Given the description of an element on the screen output the (x, y) to click on. 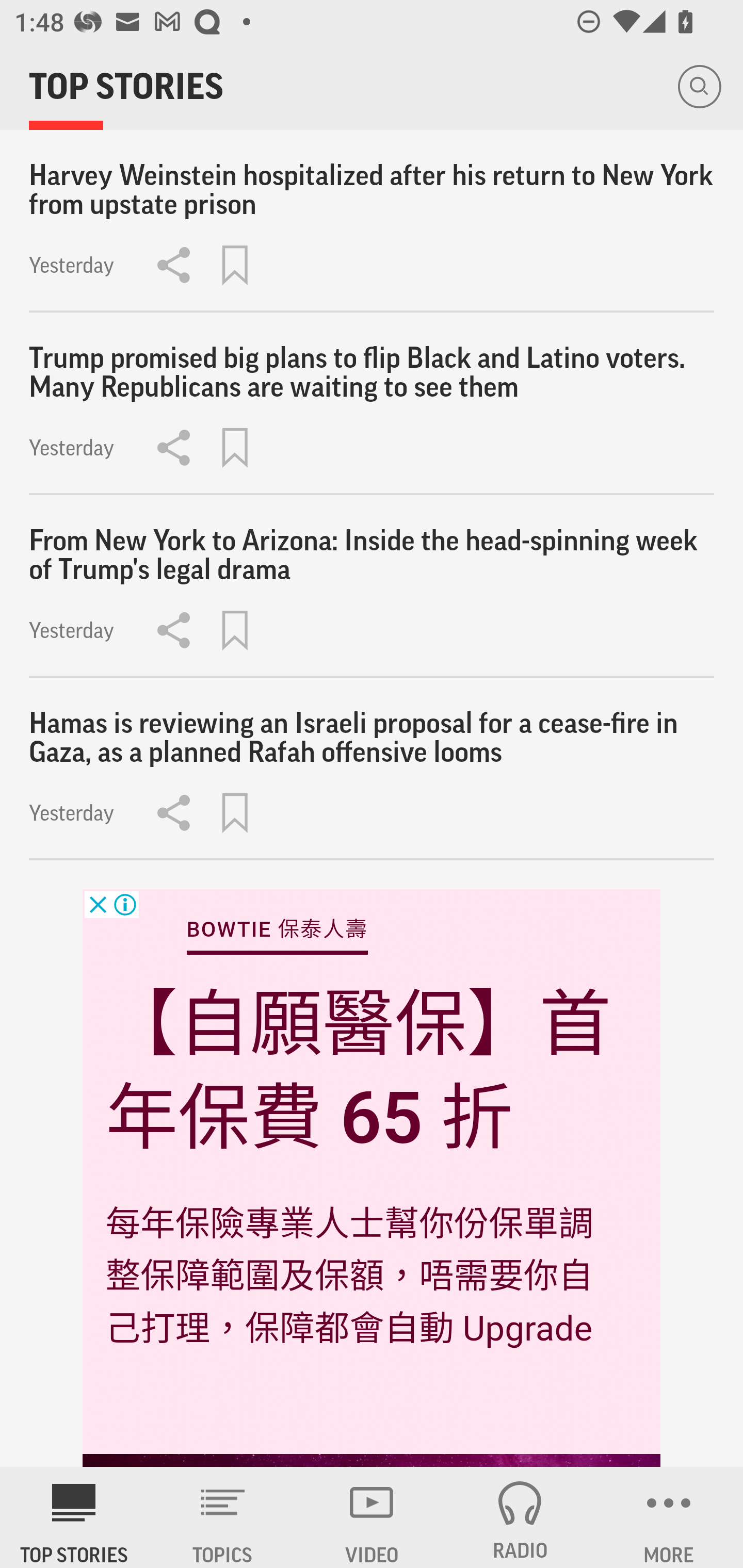
AP News TOP STORIES (74, 1517)
TOPICS (222, 1517)
VIDEO (371, 1517)
RADIO (519, 1517)
MORE (668, 1517)
